Given the description of an element on the screen output the (x, y) to click on. 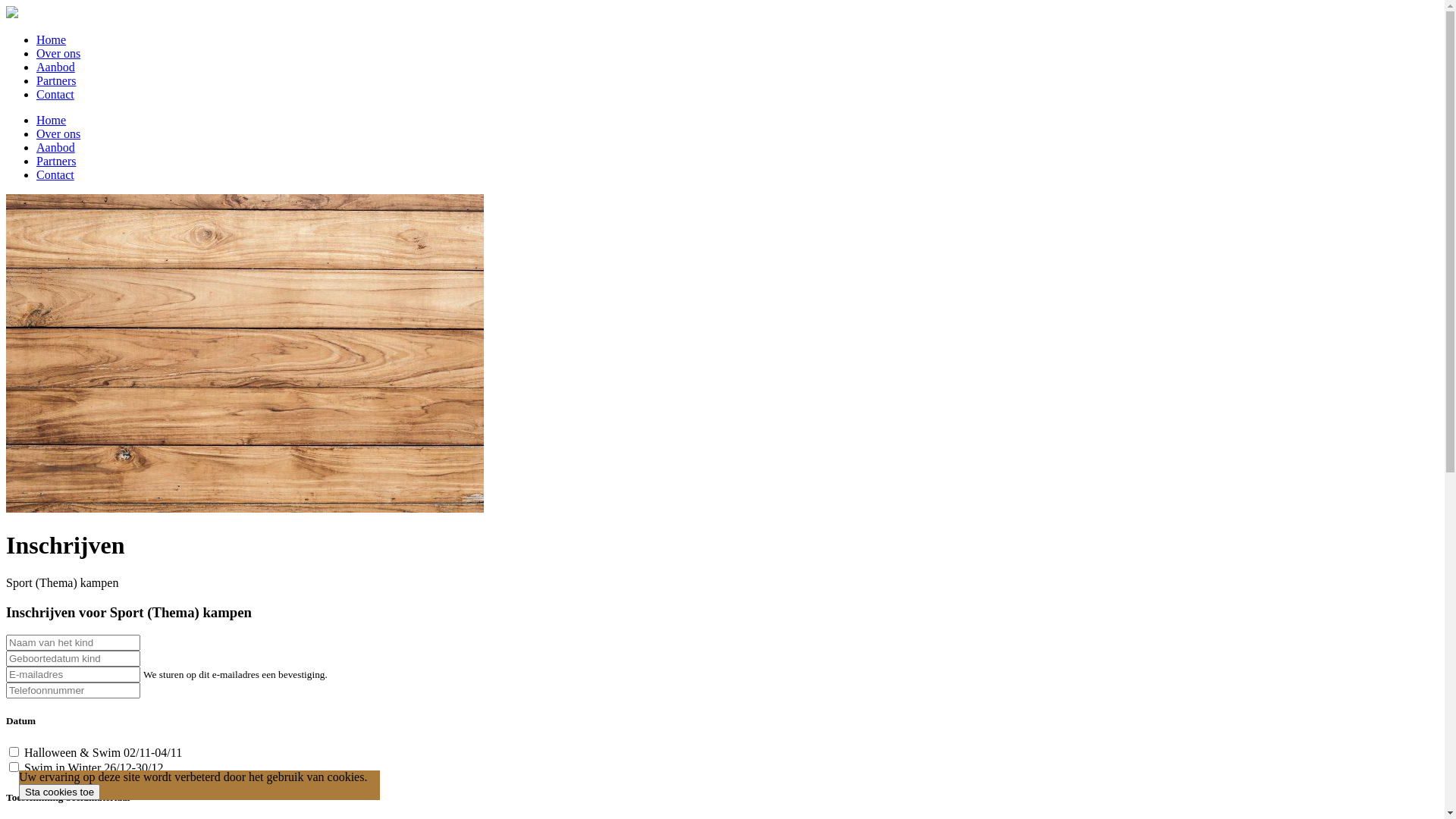
Partners Element type: text (55, 160)
Aanbod Element type: text (55, 66)
Over ons Element type: text (58, 133)
Over ons Element type: text (58, 53)
Home Element type: text (50, 39)
Partners Element type: text (55, 80)
Home Element type: text (50, 119)
Contact Element type: text (55, 174)
Sta cookies toe Element type: text (59, 792)
Aanbod Element type: text (55, 147)
Contact Element type: text (55, 93)
